Given the description of an element on the screen output the (x, y) to click on. 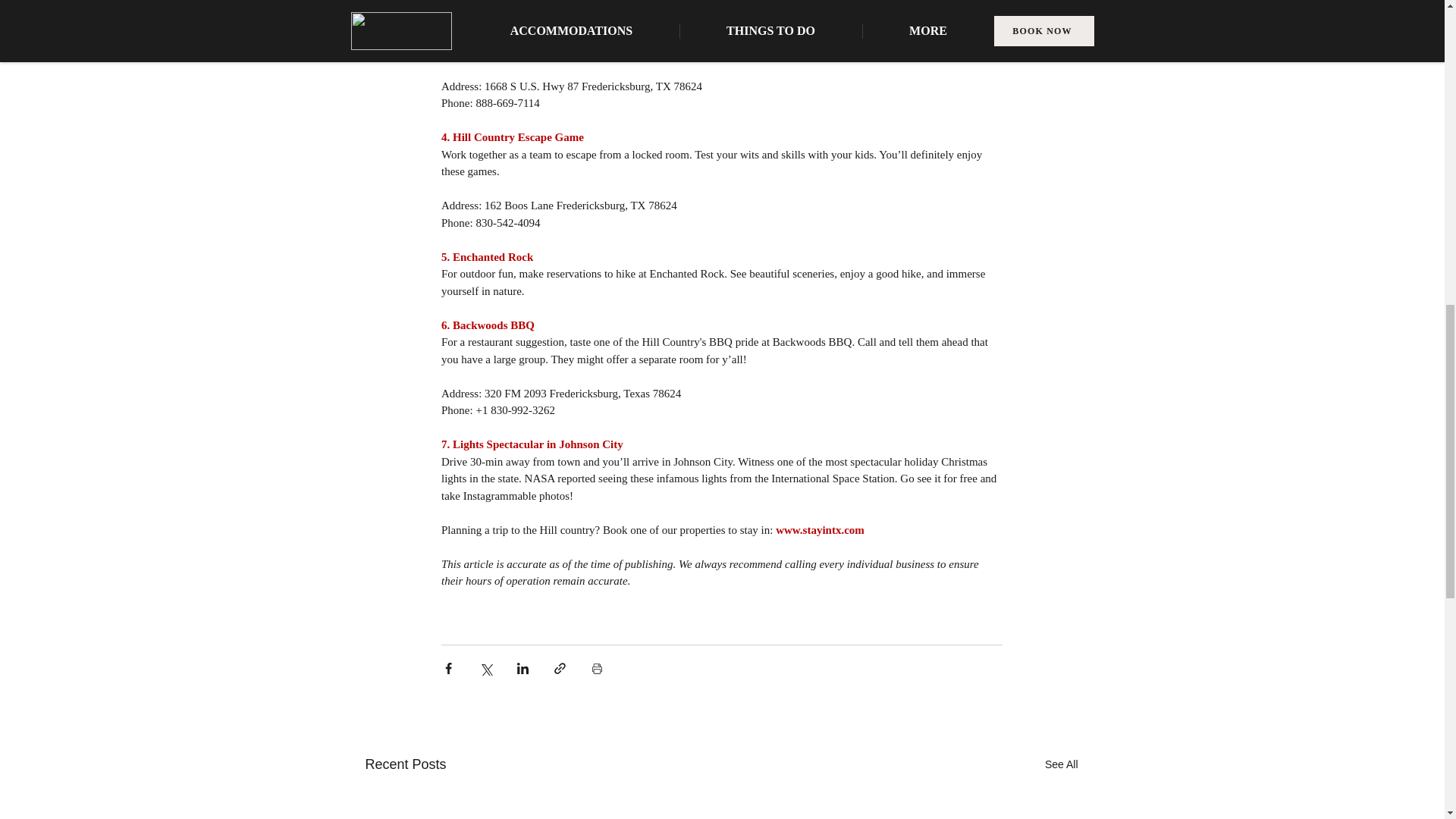
www.stayintx.com (820, 530)
Enchanted Rock (491, 256)
Lights Spectacular in Johnson City (537, 444)
Backwoods BBQ (492, 325)
Hill Country Escape Game  (518, 137)
Fredericksburg Theater Company (534, 34)
See All (1061, 764)
